Given the description of an element on the screen output the (x, y) to click on. 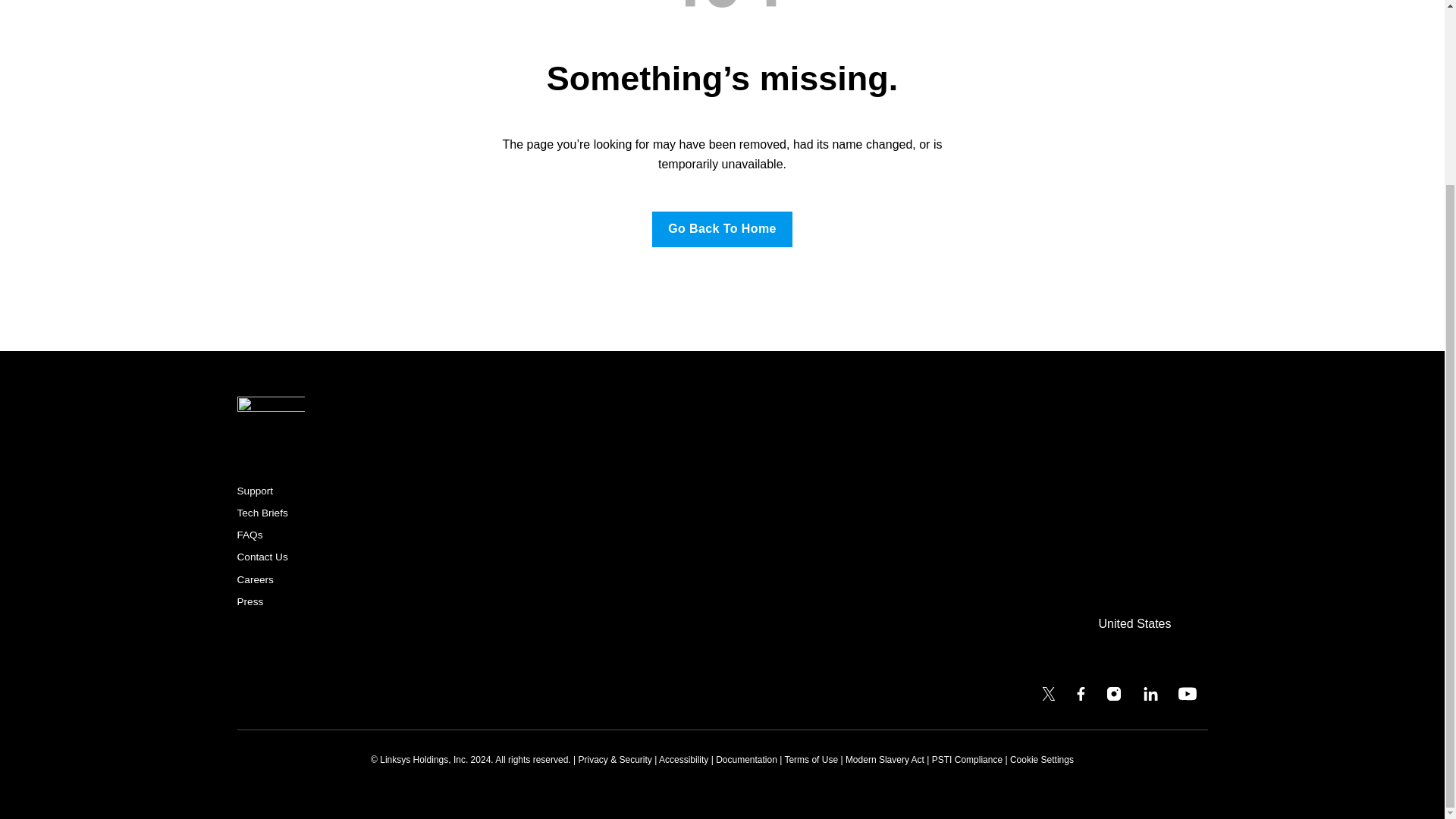
Linksys Shopify on Instagram (1112, 696)
Tech Briefs (260, 511)
Support (254, 489)
Go Back To Home (722, 229)
Linksys Shopify on YouTube (1186, 696)
